Given the description of an element on the screen output the (x, y) to click on. 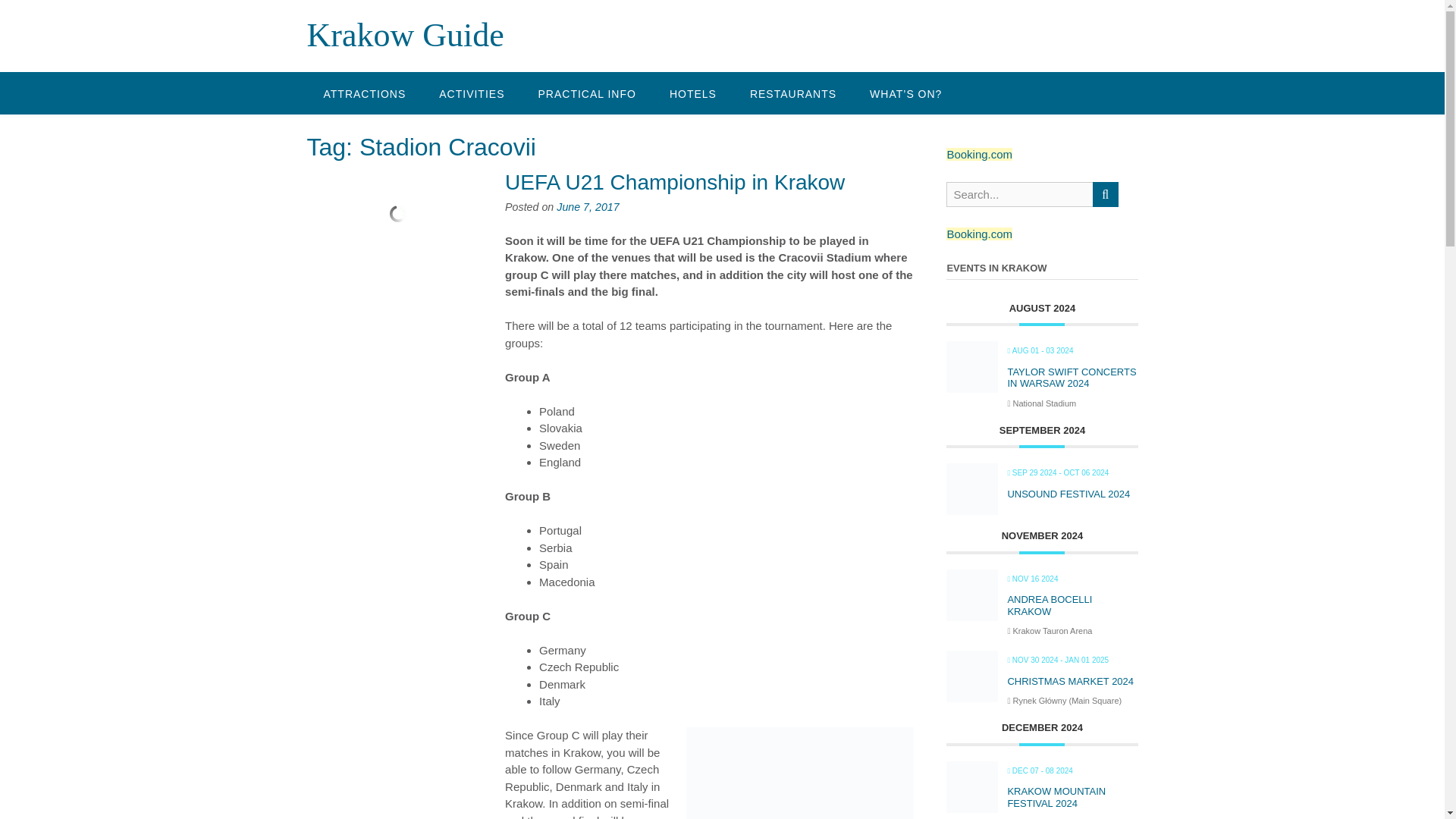
Search for: (1019, 194)
ATTRACTIONS (363, 92)
HOTELS (692, 92)
Krakow Guide (404, 35)
RESTAURANTS (793, 92)
Krakow Guide (404, 35)
ACTIVITIES (471, 92)
PRACTICAL INFO (586, 92)
